Given the description of an element on the screen output the (x, y) to click on. 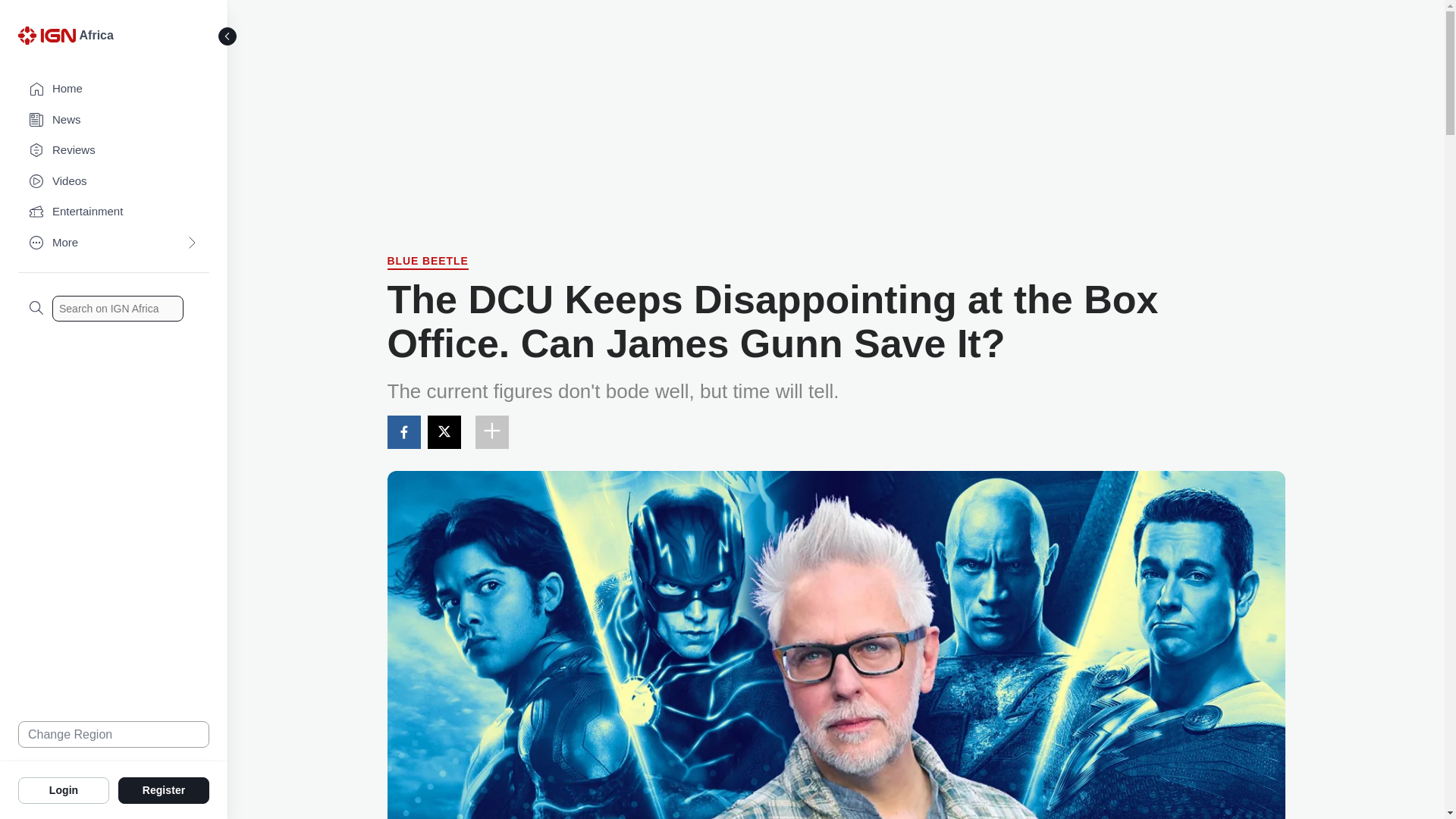
IGN Logo (46, 34)
Entertainment (113, 211)
More (113, 242)
Videos (113, 181)
Register (163, 789)
BLUE BEETLE (427, 262)
Reviews (113, 150)
Home (113, 89)
Login (63, 789)
IGN Logo (48, 39)
Toggle Sidebar (226, 36)
News (113, 119)
Blue Beetle (427, 262)
